Given the description of an element on the screen output the (x, y) to click on. 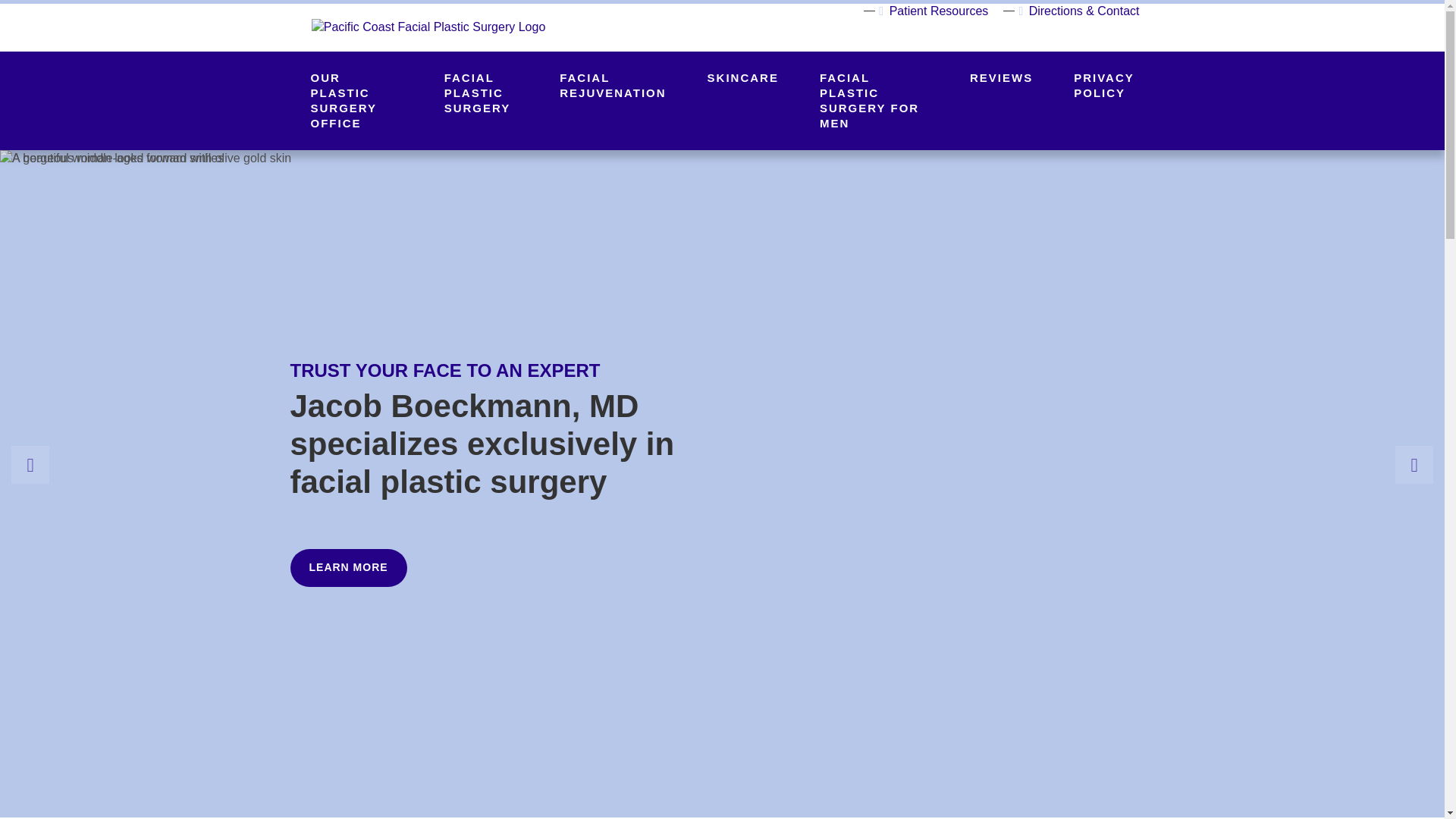
REVIEWS (1000, 77)
PRIVACY POLICY (1103, 85)
FACIAL REJUVENATION (611, 85)
OUR PLASTIC SURGERY OFFICE (356, 100)
SKINCARE (743, 77)
Patient Resources (924, 11)
FACIAL PLASTIC SURGERY (481, 93)
FACIAL PLASTIC SURGERY FOR MEN (874, 100)
